Given the description of an element on the screen output the (x, y) to click on. 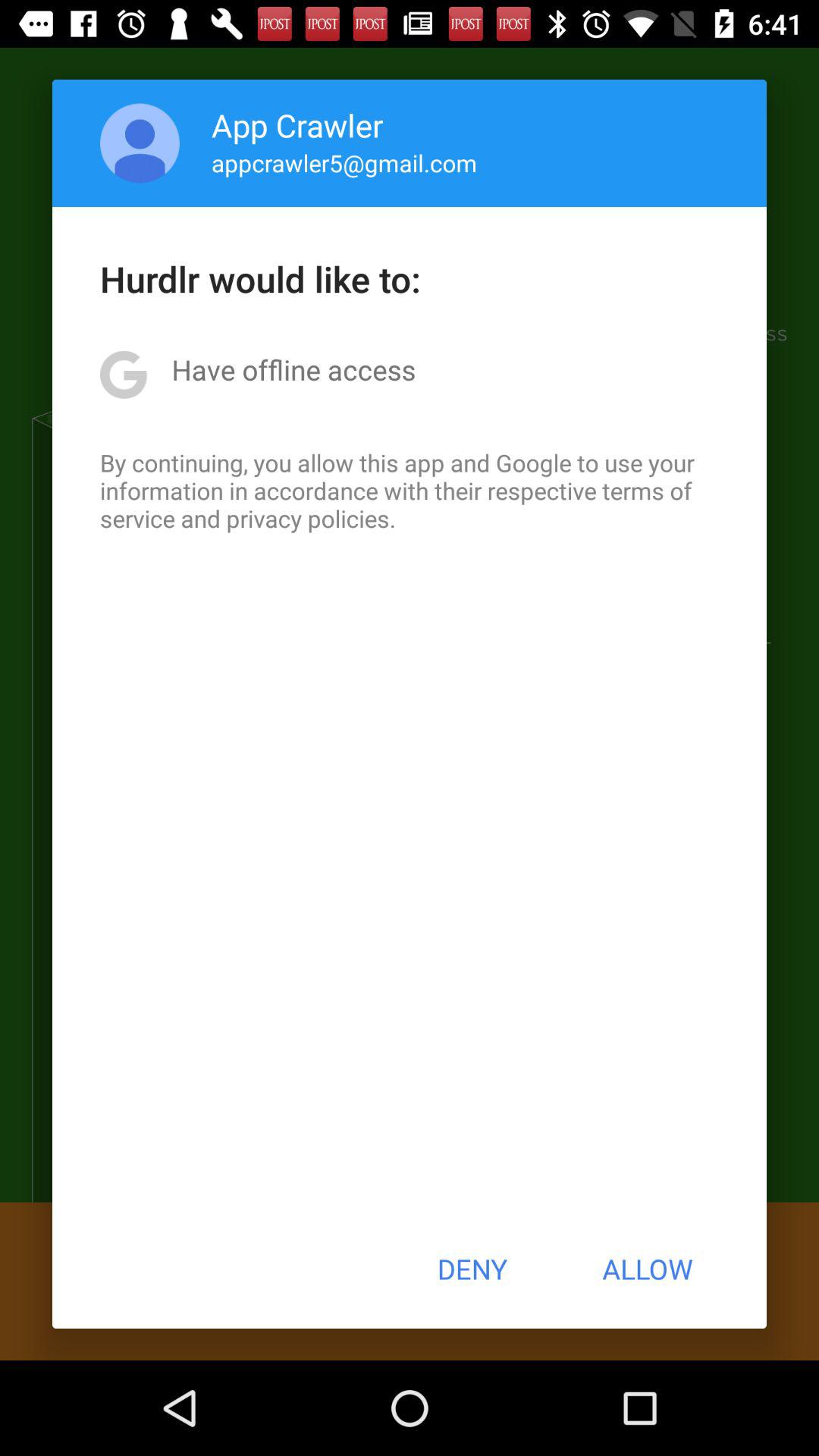
turn on the icon below the hurdlr would like icon (293, 369)
